Given the description of an element on the screen output the (x, y) to click on. 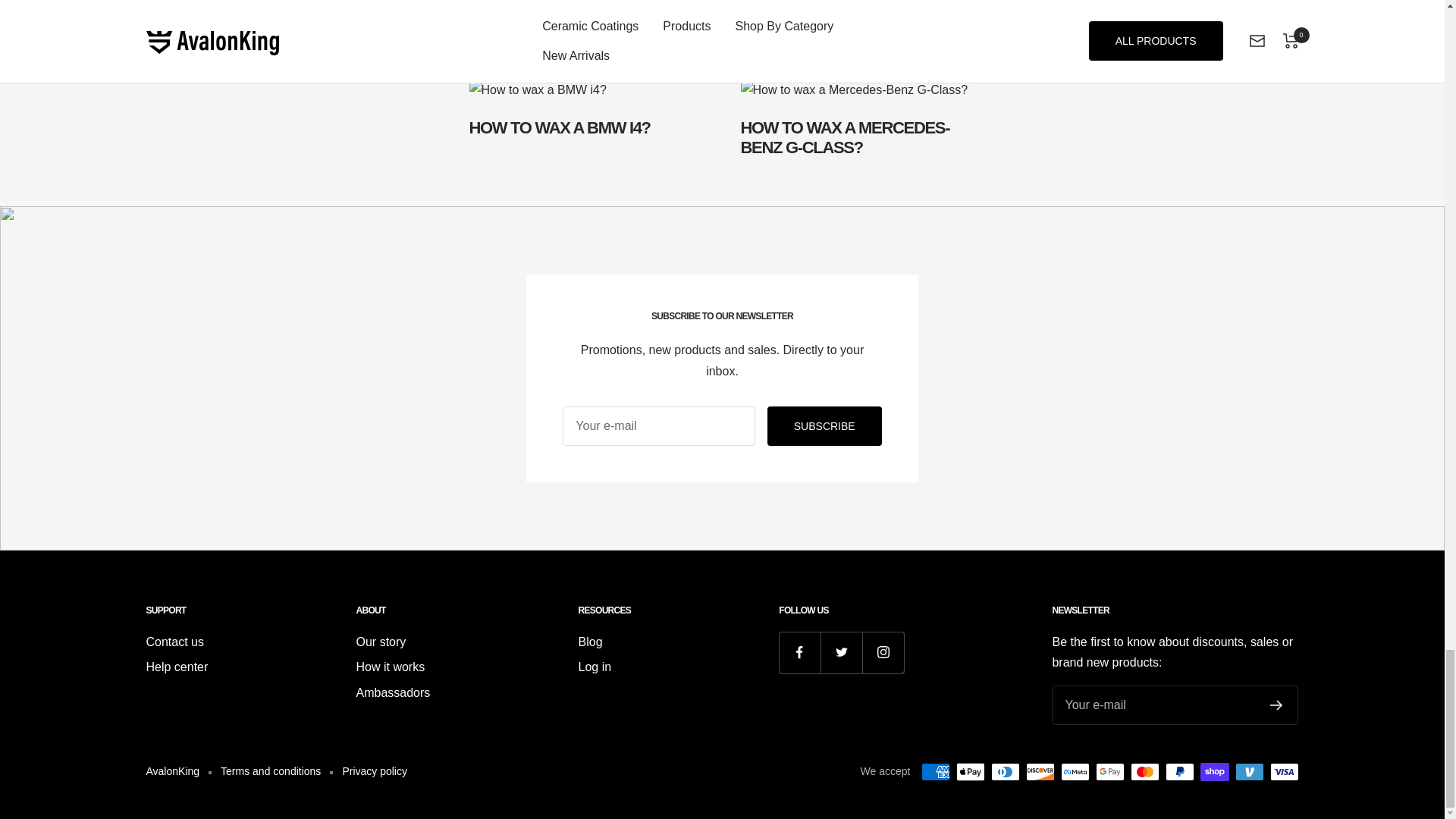
Register (721, 118)
